Given the description of an element on the screen output the (x, y) to click on. 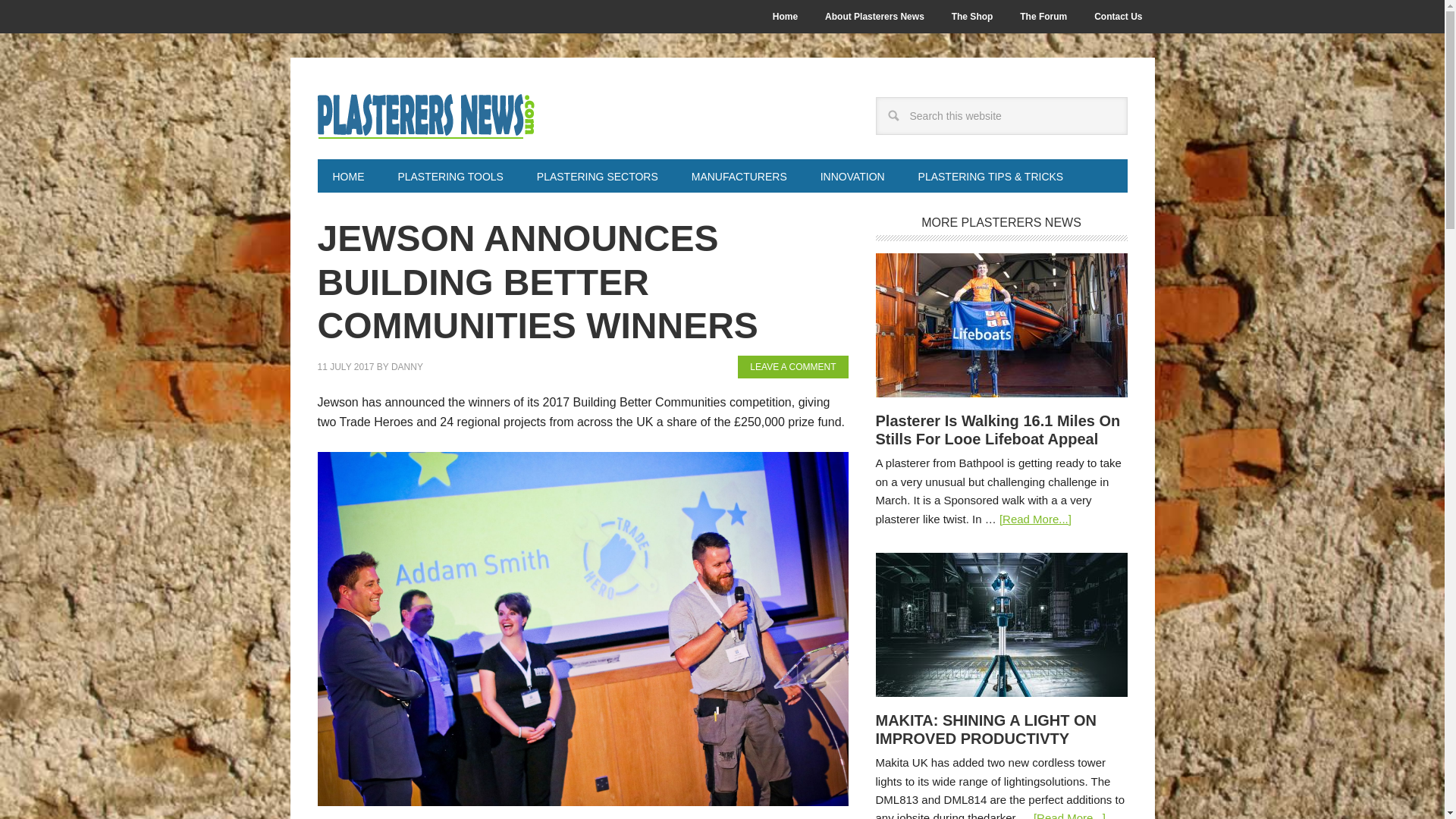
The Shop (972, 16)
DANNY (407, 366)
HOME (347, 175)
The Forum (1042, 16)
PLASTERING SECTORS (596, 175)
PLASTERERS NEWS (459, 115)
The Shop (972, 16)
LEAVE A COMMENT (792, 366)
INNOVATION (852, 175)
Contact Us (1117, 16)
About Plasterers News (874, 16)
MANUFACTURERS (739, 175)
PLASTERING TOOLS (449, 175)
